Given the description of an element on the screen output the (x, y) to click on. 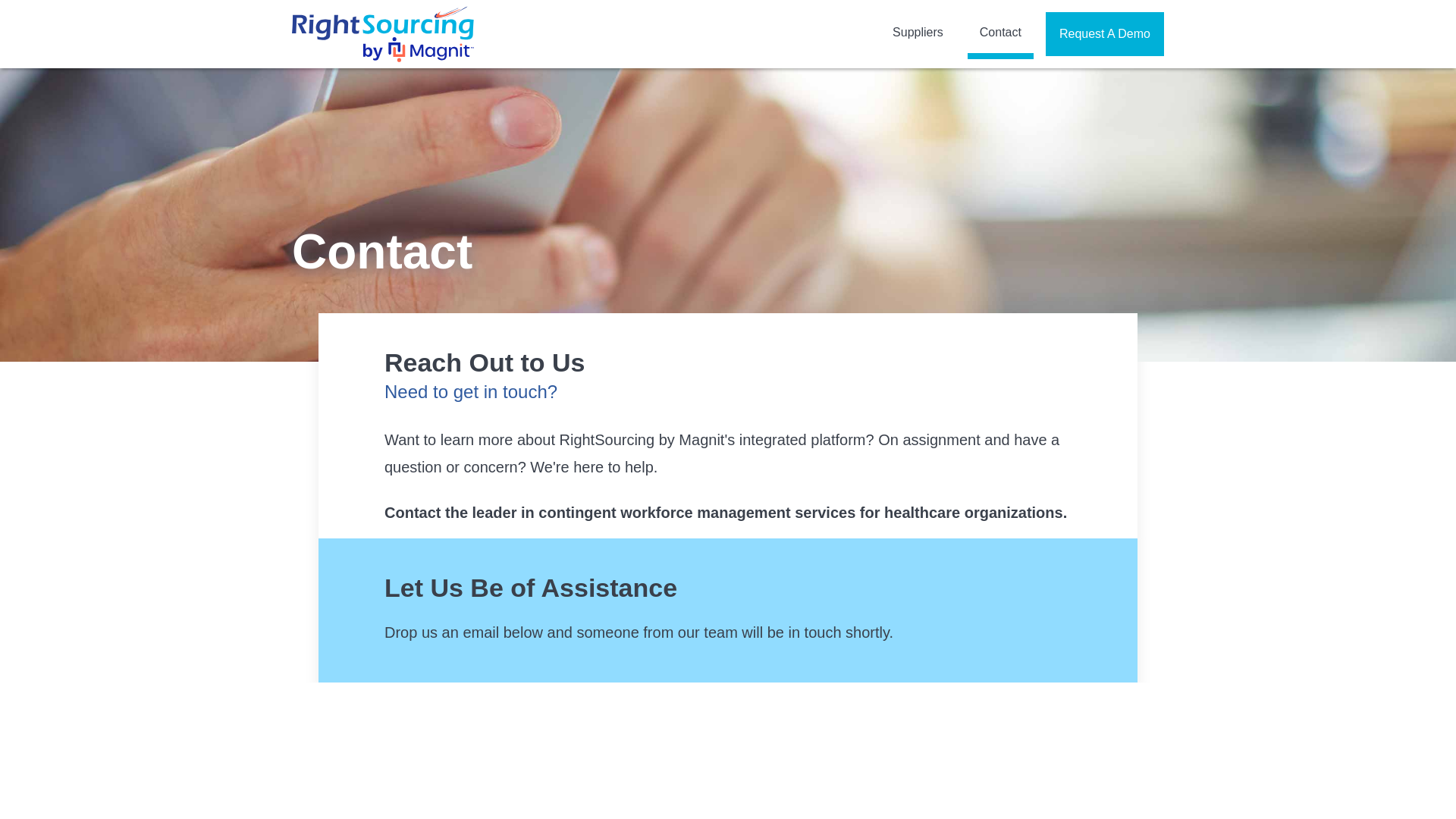
Contact (1000, 32)
Suppliers (917, 32)
Request A Demo (1104, 34)
